Given the description of an element on the screen output the (x, y) to click on. 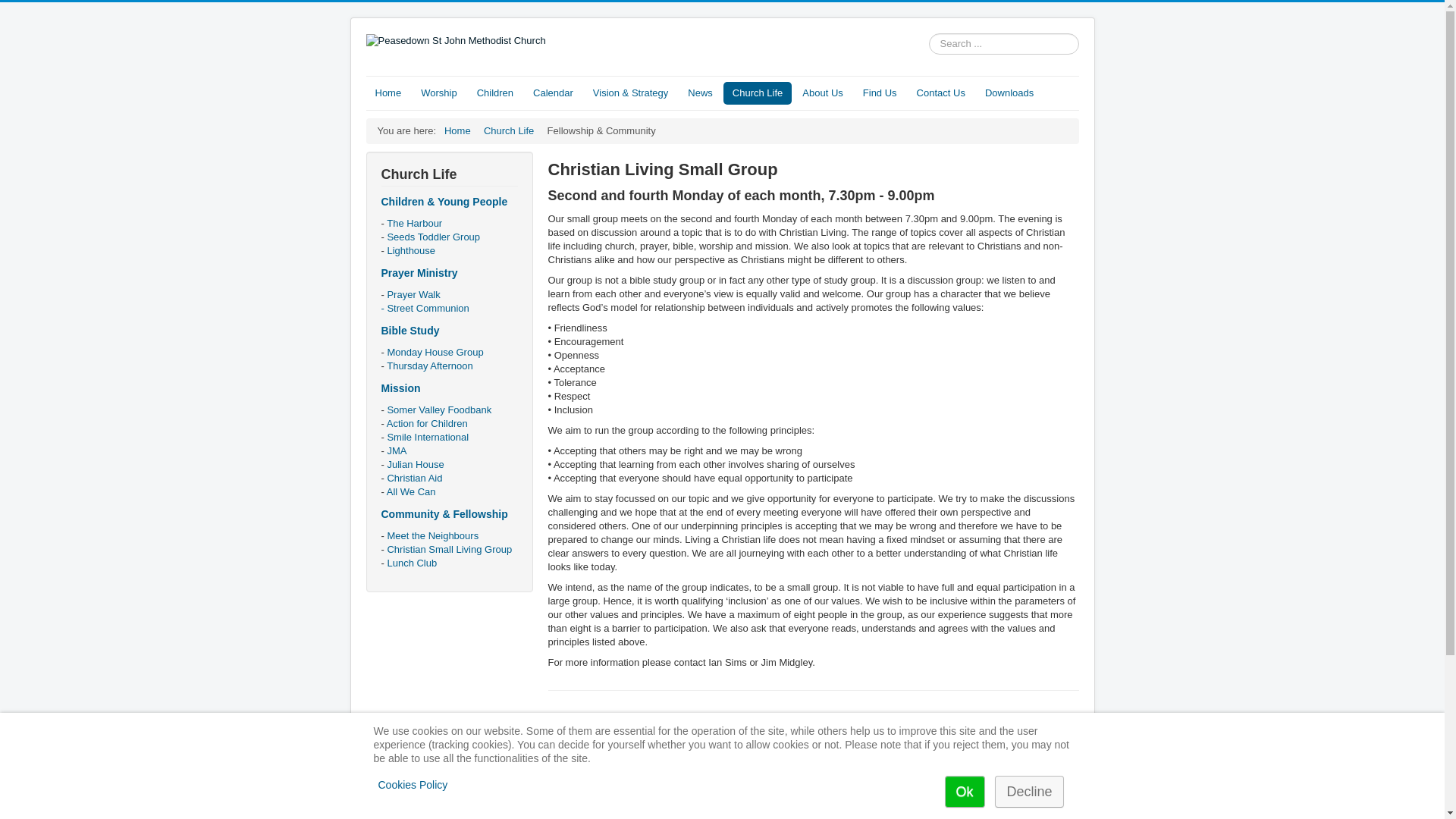
Thursday Afternoon Bible Fellowship (429, 365)
Home (457, 130)
Monday House Group (435, 351)
News (700, 92)
Mission (400, 387)
Downloads (1008, 92)
Find Us (879, 92)
Julian House (415, 464)
Somer Valley Foodbank (439, 409)
Contact Us (940, 92)
